Given the description of an element on the screen output the (x, y) to click on. 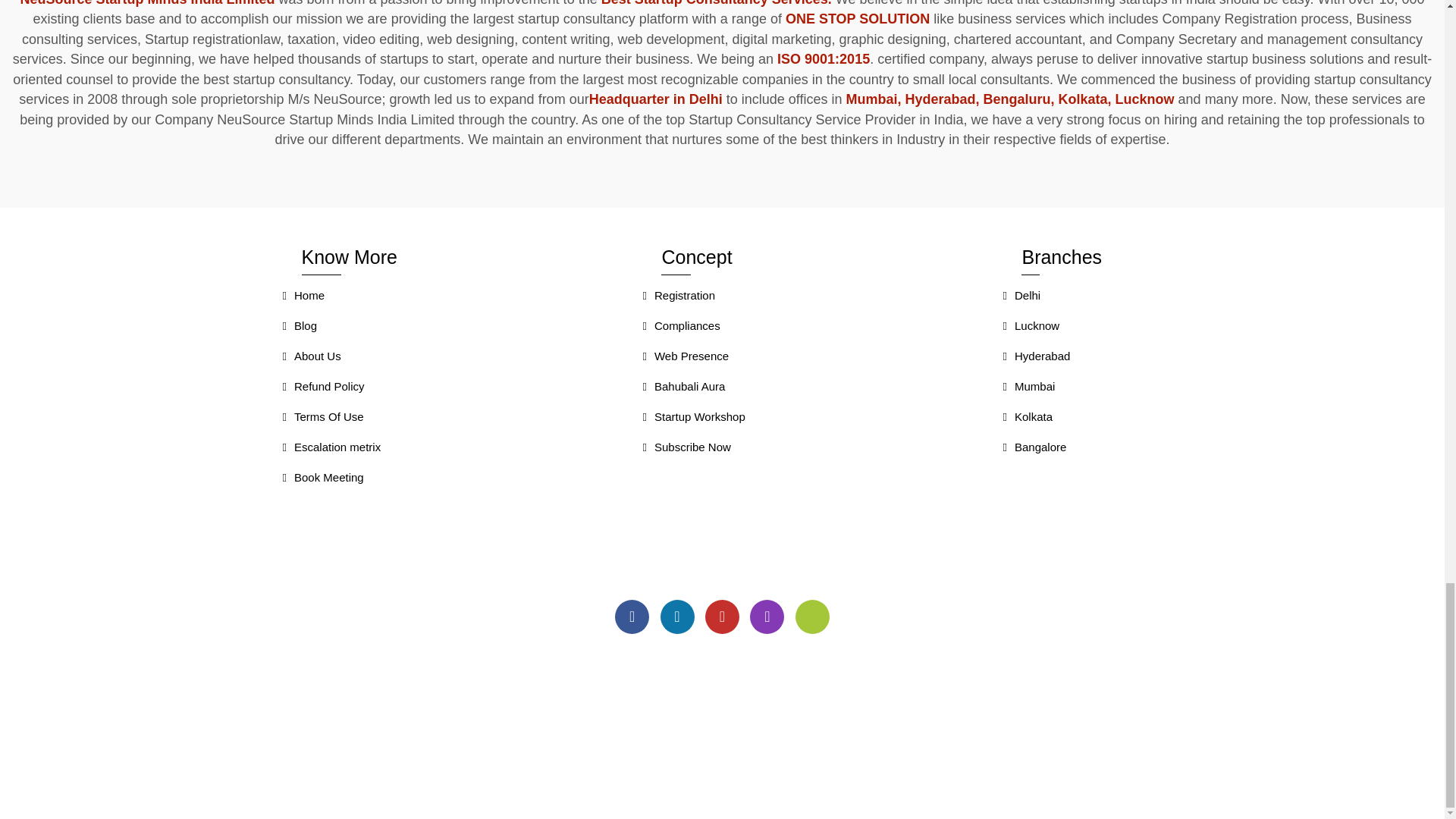
Refund Policy (323, 388)
Delhi (1022, 297)
Bahubali Aura (683, 388)
Terms Of Use (322, 419)
Escalation metrix (331, 449)
Registration (678, 297)
Bangalore (1034, 449)
Mumbai (1028, 388)
Kolkata (1027, 419)
ONE STOP SOLUTION (858, 18)
Startup Workshop (693, 419)
Lucknow (1031, 327)
Headquarter in Delhi (657, 99)
Subscribe Now (686, 449)
